Given the description of an element on the screen output the (x, y) to click on. 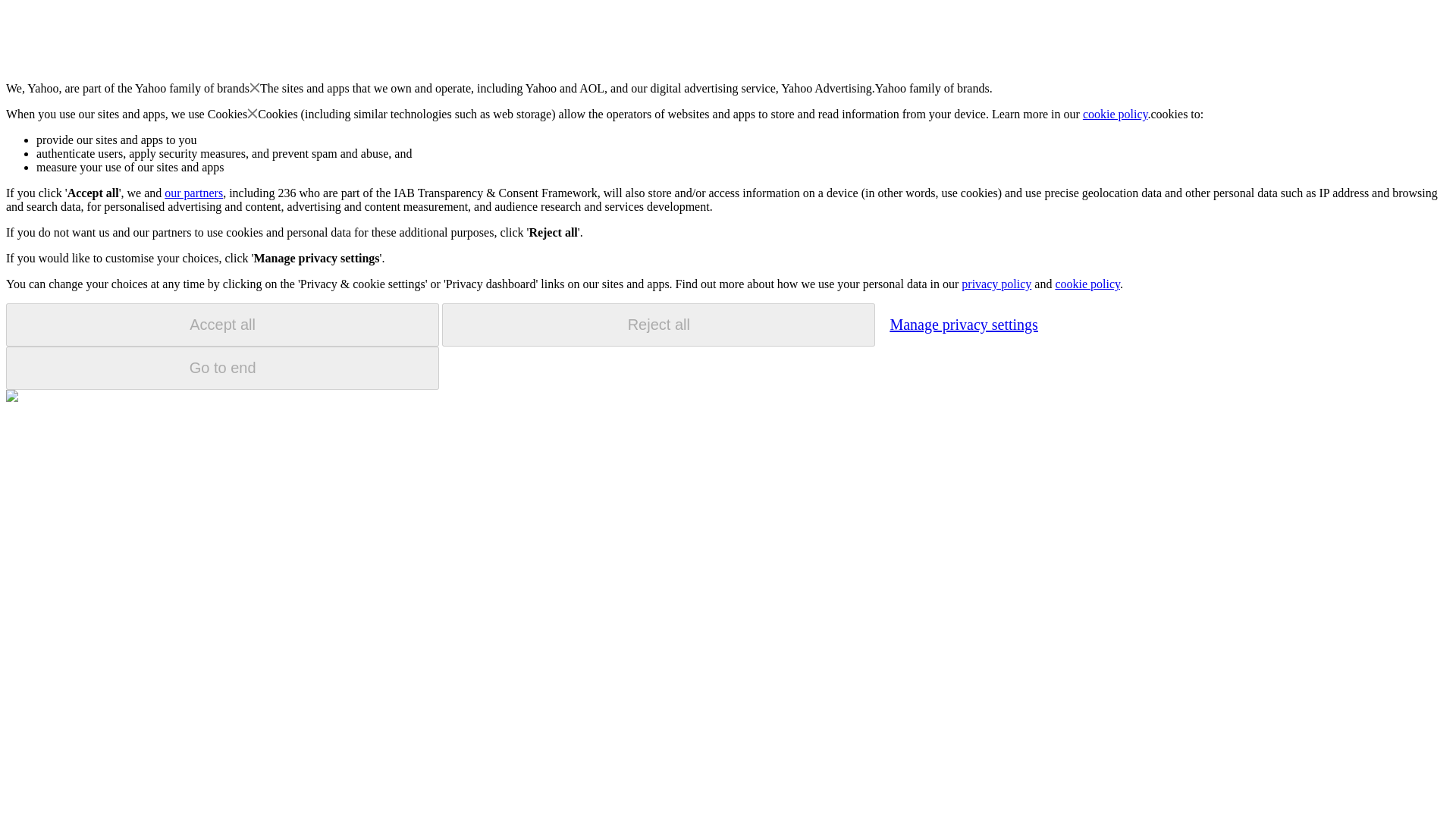
Manage privacy settings (963, 323)
Accept all (222, 324)
Reject all (658, 324)
cookie policy (1115, 113)
privacy policy (995, 283)
Go to end (222, 367)
cookie policy (1086, 283)
our partners (193, 192)
